Given the description of an element on the screen output the (x, y) to click on. 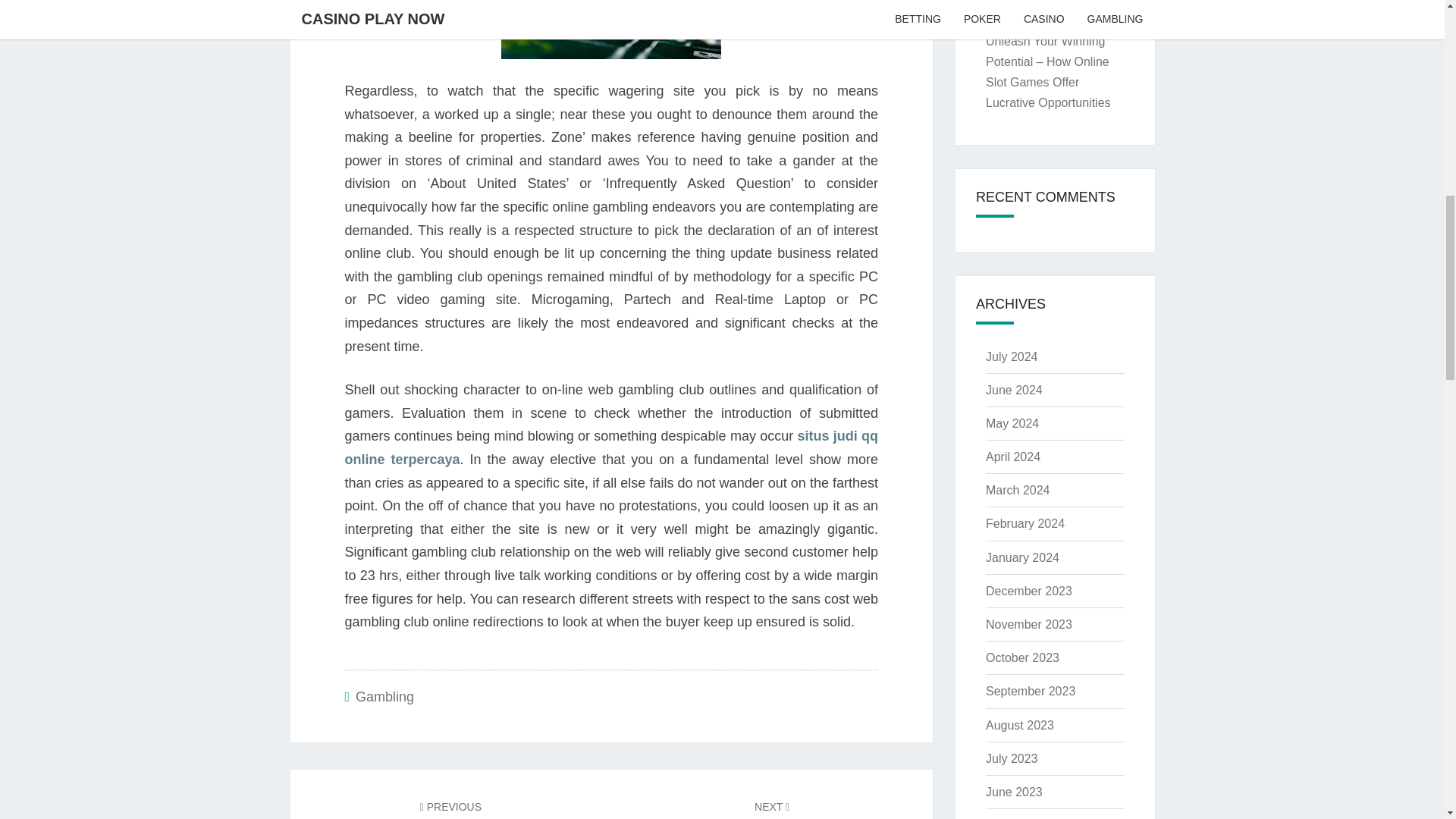
September 2023 (1030, 690)
March 2024 (1017, 490)
June 2023 (772, 808)
February 2024 (1013, 791)
December 2023 (1024, 522)
November 2023 (1028, 590)
July 2023 (1028, 624)
July 2024 (1011, 758)
